Given the description of an element on the screen output the (x, y) to click on. 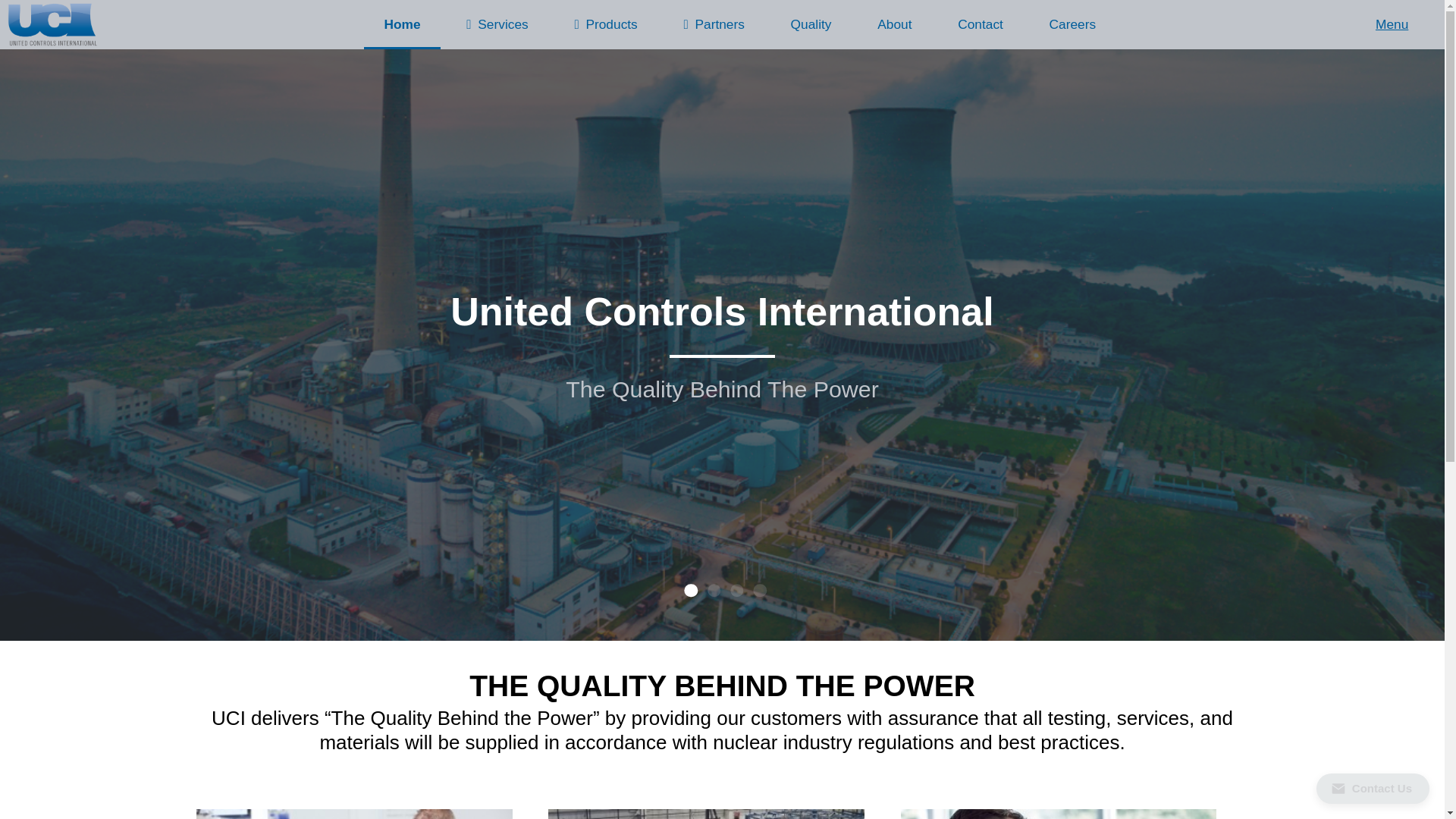
Home (401, 24)
Quality (811, 24)
Careers (1072, 24)
Services (496, 24)
About (894, 24)
Products (605, 24)
Partners (713, 24)
Contact (980, 24)
